Given the description of an element on the screen output the (x, y) to click on. 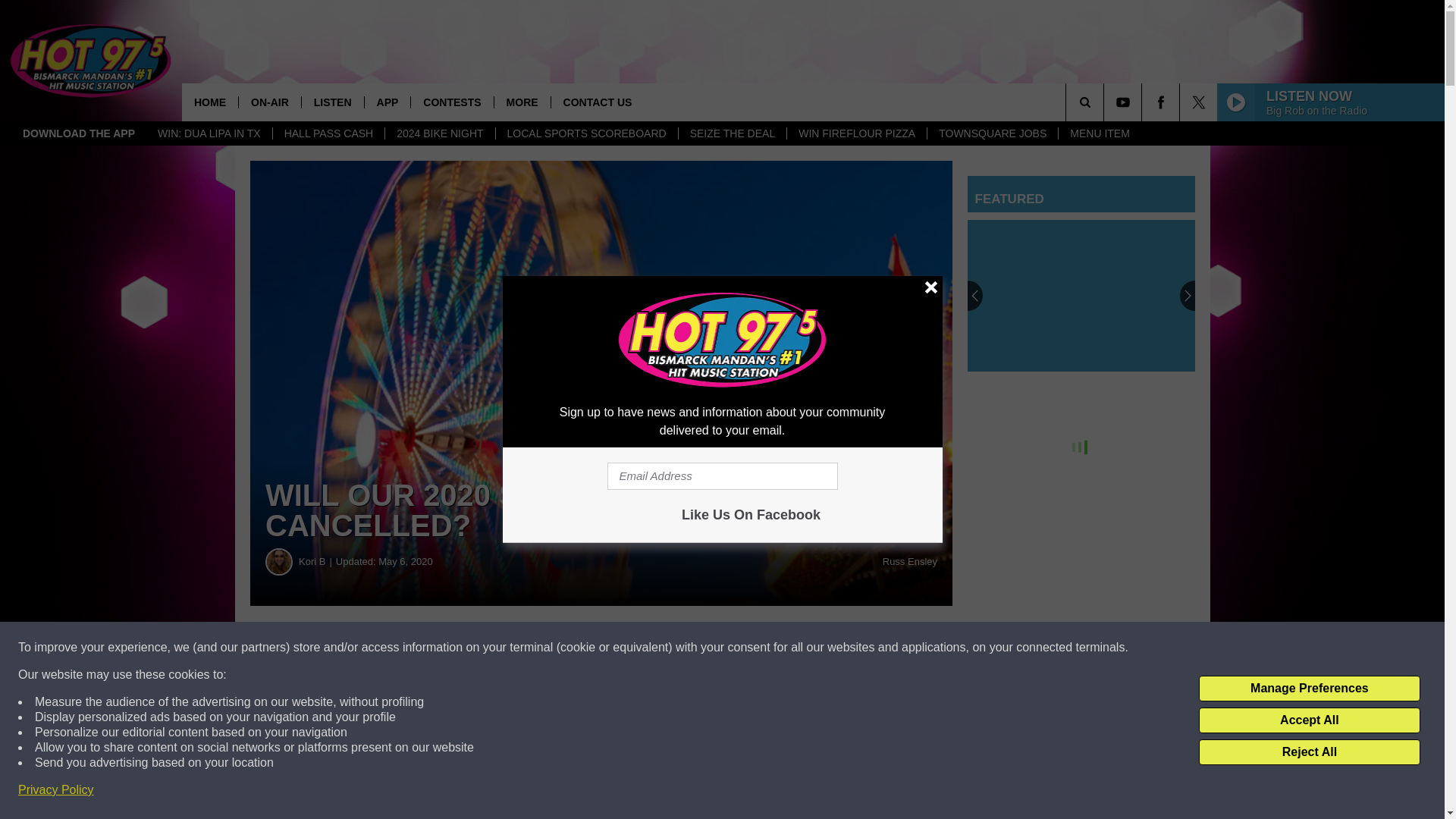
TOWNSQUARE JOBS (992, 133)
Share on Facebook (460, 647)
WIN FIREFLOUR PIZZA (856, 133)
APP (387, 102)
Accept All (1309, 720)
WIN: DUA LIPA IN TX (209, 133)
CONTESTS (451, 102)
SEIZE THE DEAL (732, 133)
2024 BIKE NIGHT (439, 133)
MENU ITEM (1099, 133)
Privacy Policy (55, 789)
HALL PASS CASH (328, 133)
LOCAL SPORTS SCOREBOARD (586, 133)
SEARCH (1106, 102)
HOME (210, 102)
